Given the description of an element on the screen output the (x, y) to click on. 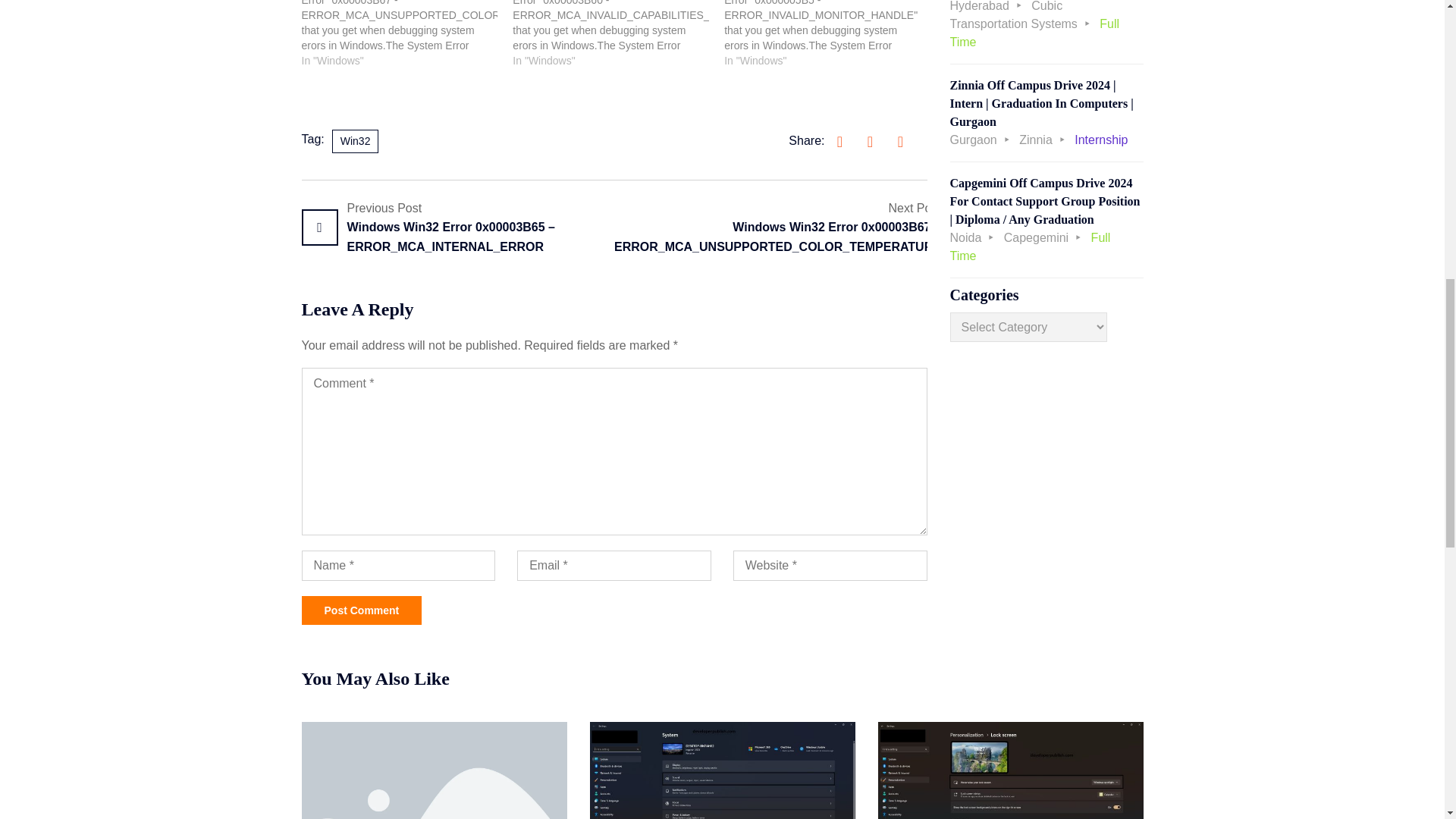
LinkedIn (899, 141)
Post Comment (361, 610)
Twitter (869, 141)
Post Comment (361, 610)
Facebook (839, 141)
Win32 (354, 141)
